Given the description of an element on the screen output the (x, y) to click on. 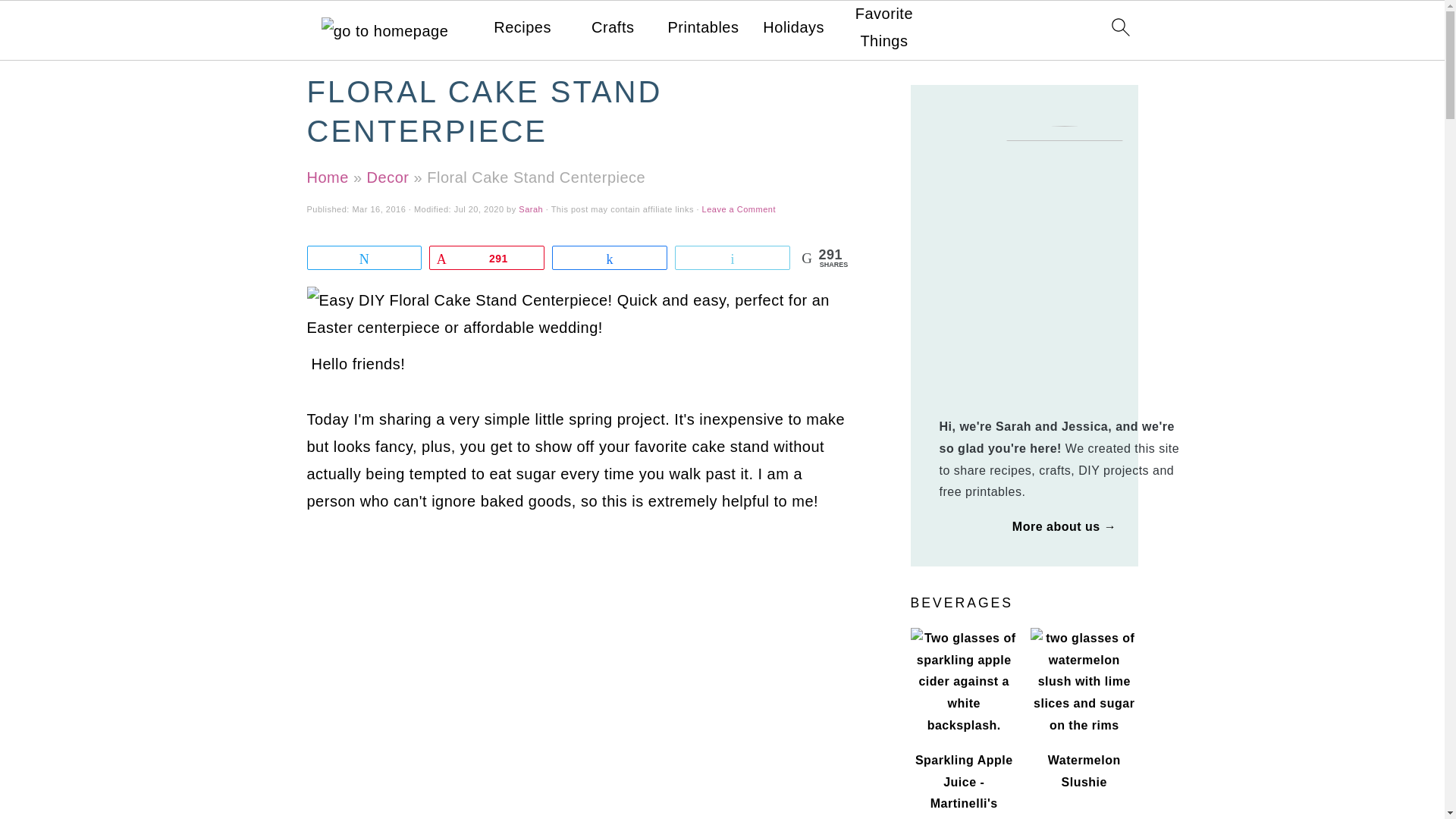
Favorite Things (883, 27)
Printables (703, 26)
search icon (1119, 26)
search icon (1119, 30)
Decor (387, 176)
Holidays (793, 26)
Crafts (612, 26)
Home (326, 176)
Recipes (522, 26)
Sarah (530, 208)
